Given the description of an element on the screen output the (x, y) to click on. 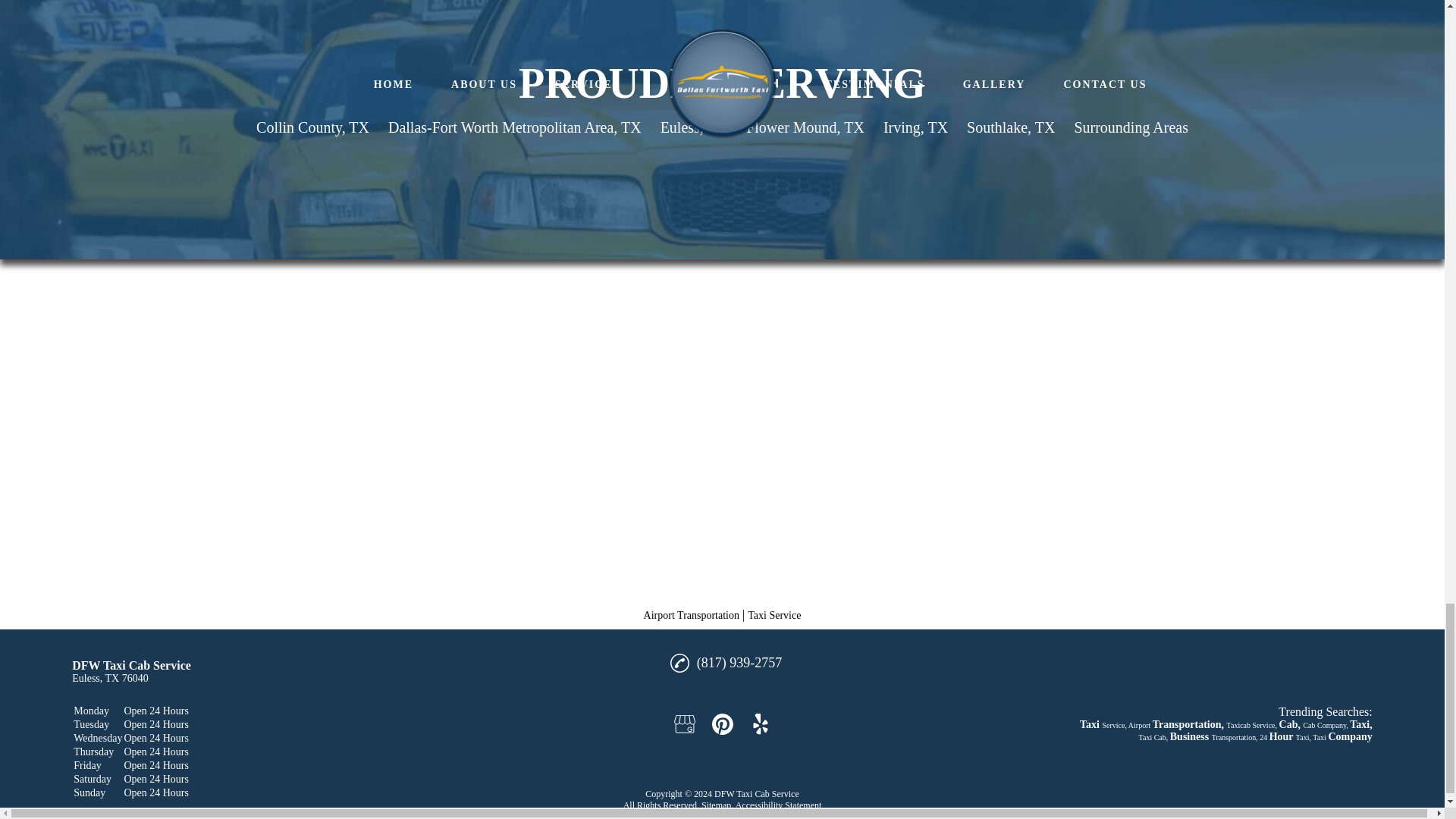
Airport Transportation (691, 614)
Phone (679, 663)
Taxi Service (773, 614)
